Given the description of an element on the screen output the (x, y) to click on. 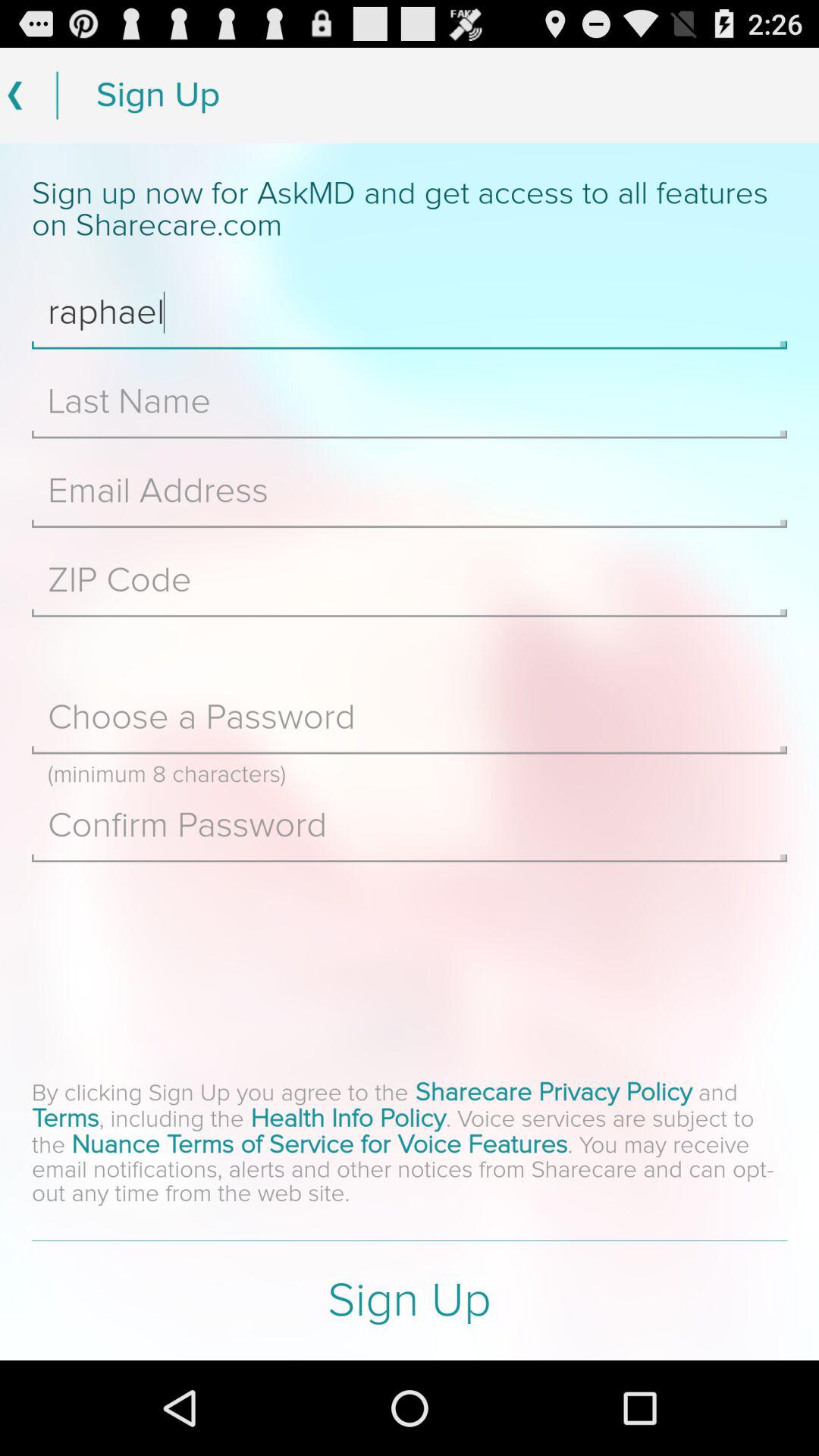
zip code field (409, 580)
